Given the description of an element on the screen output the (x, y) to click on. 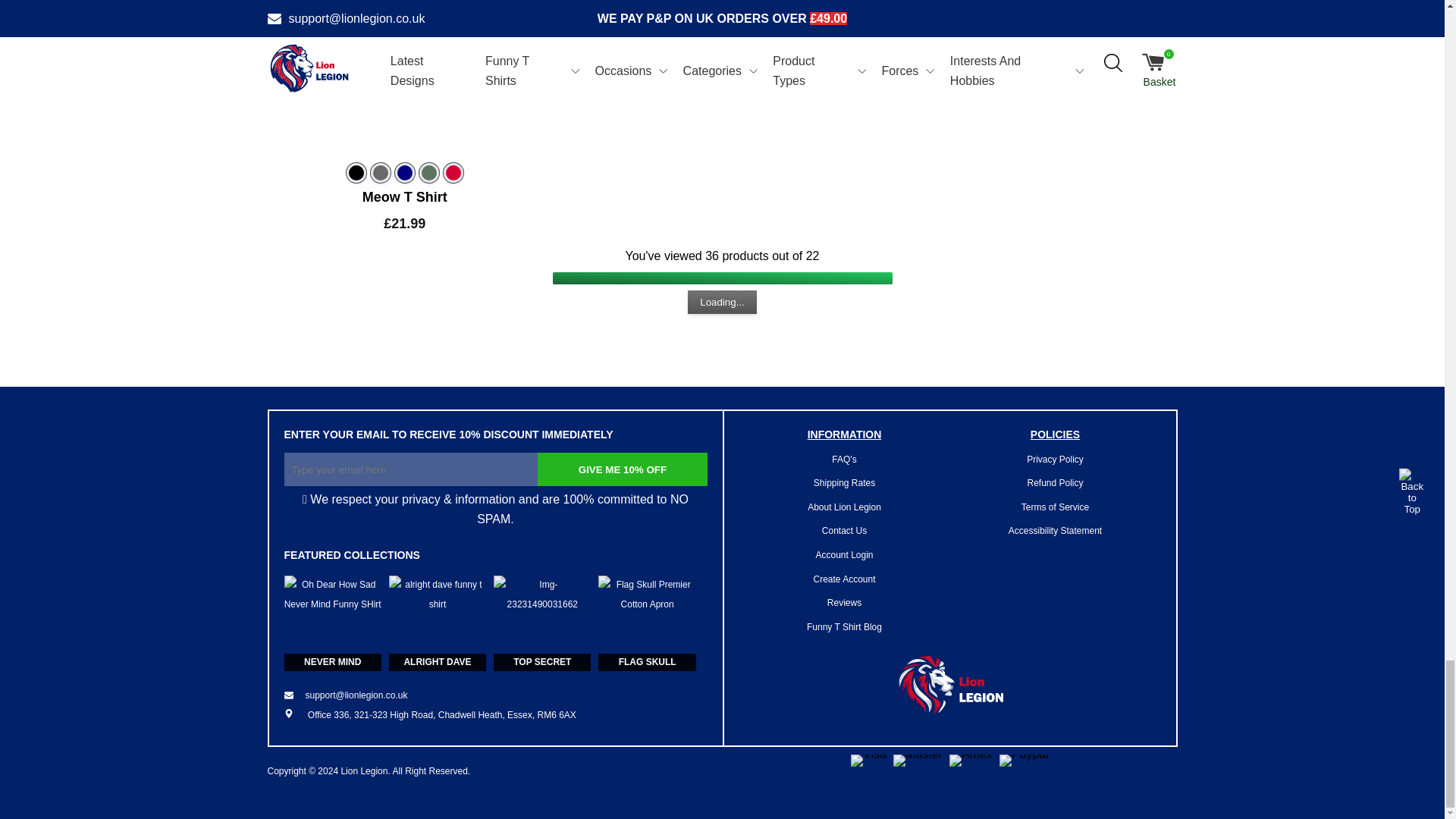
Adress (429, 715)
never mind (331, 622)
Alright Dave (437, 622)
Flag Skull (646, 622)
top secret (542, 622)
Lion Legion (949, 689)
E-mail (345, 695)
